Given the description of an element on the screen output the (x, y) to click on. 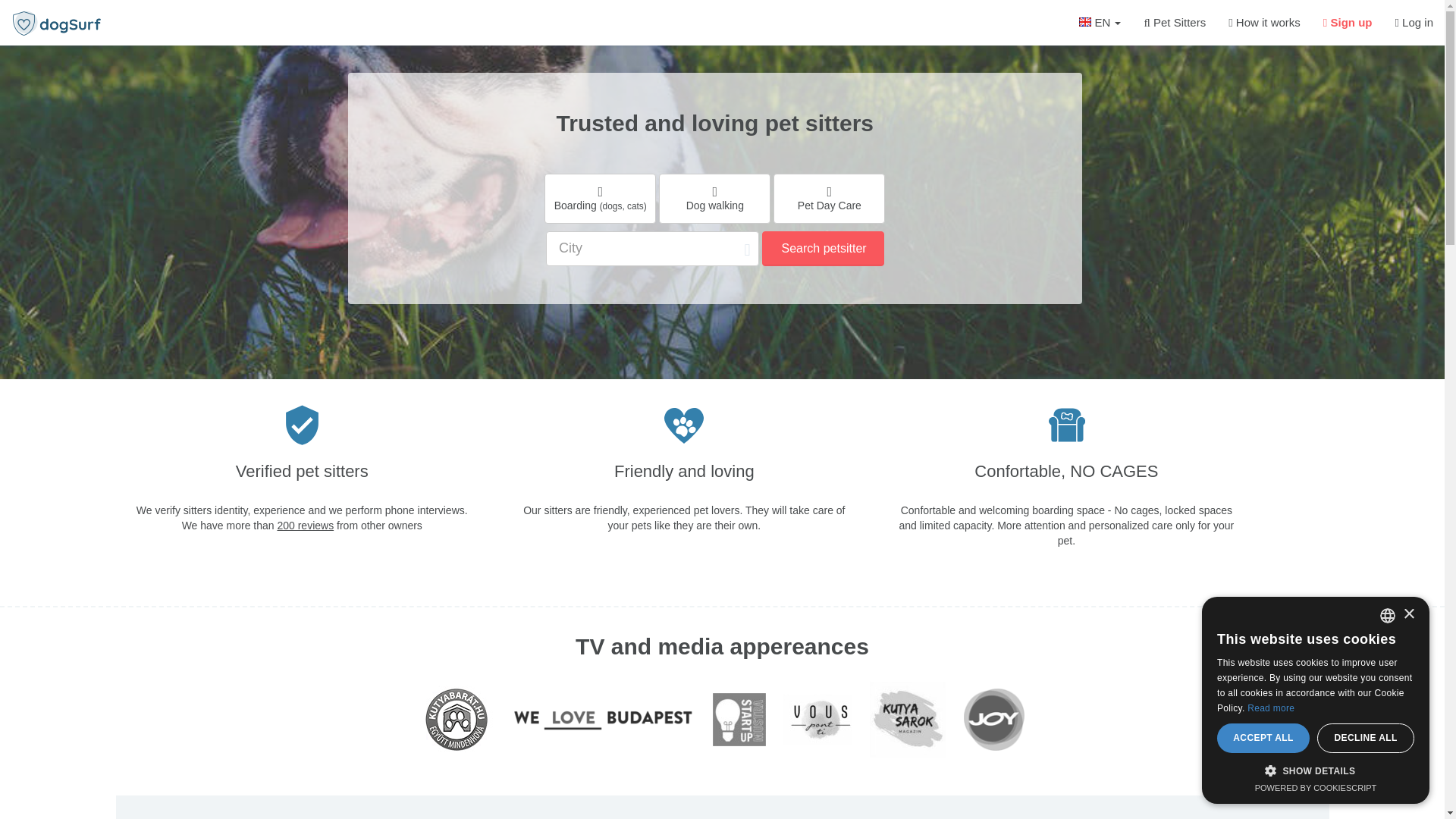
Sign up (1347, 22)
200 reviews (304, 525)
EN (1099, 22)
How it works (1264, 22)
Pet Sitters (1174, 22)
Log in (1413, 22)
Search petsitter (822, 248)
Consent Management Platform (1316, 787)
